Given the description of an element on the screen output the (x, y) to click on. 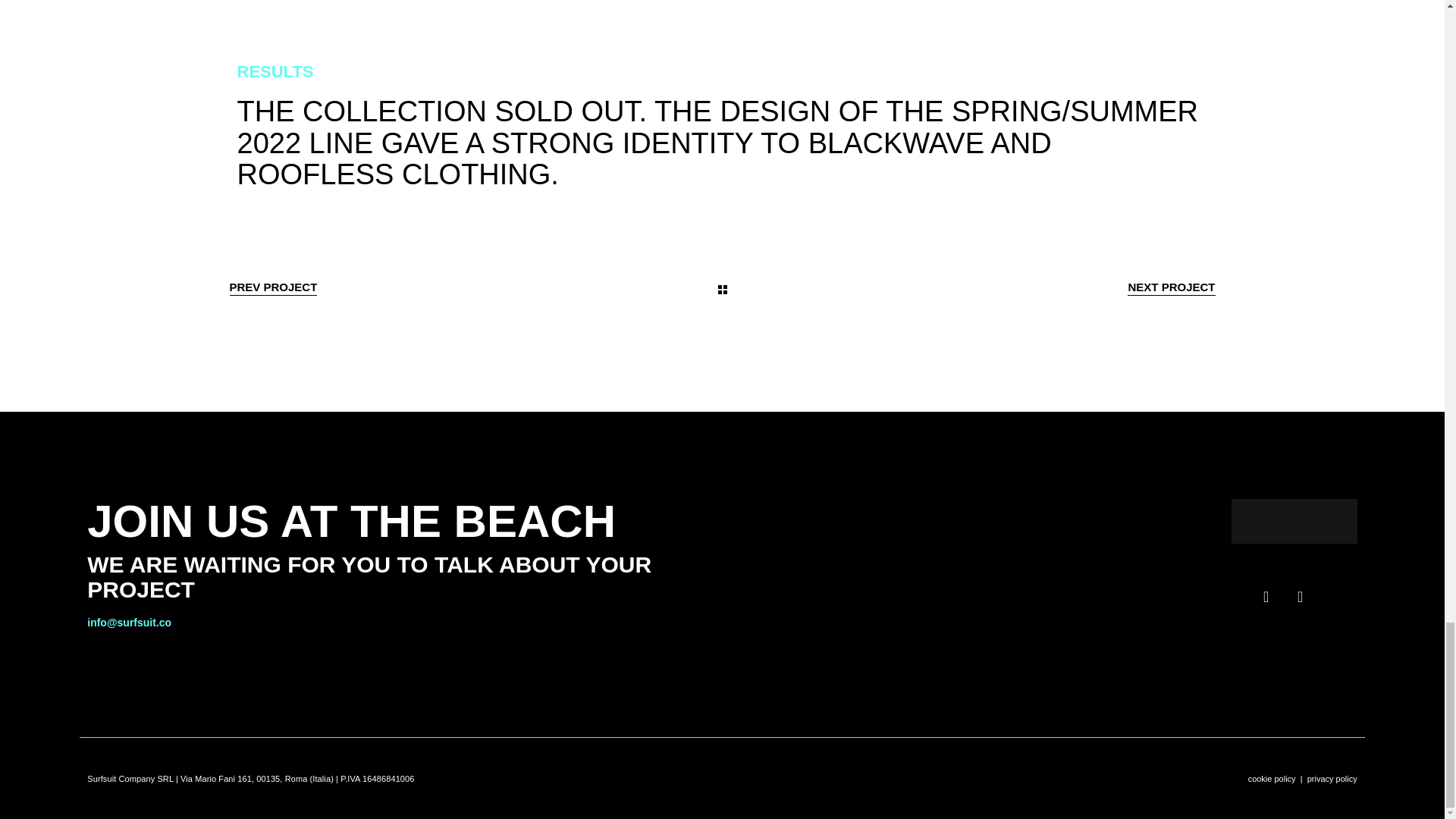
PREV PROJECT (272, 287)
cookie policy (1271, 777)
privacy policy (1331, 777)
NEXT PROJECT (1170, 287)
